Given the description of an element on the screen output the (x, y) to click on. 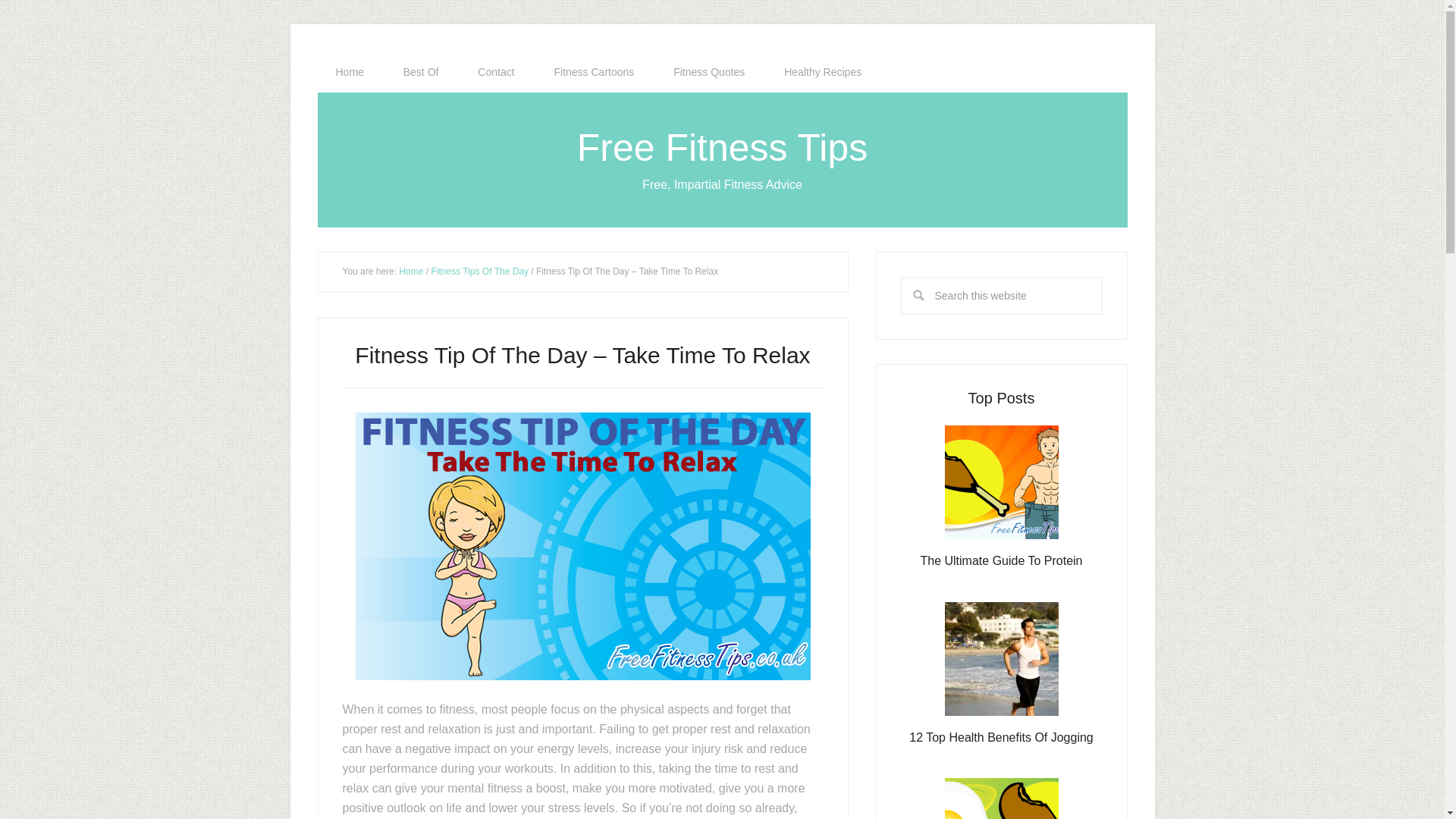
Best Of (421, 71)
Free Fitness Tips (721, 147)
Fitness Tips Of The Day (479, 271)
Healthy Recipes (822, 71)
Fitness Quotes (708, 71)
Home (410, 271)
Contact (496, 71)
